Given the description of an element on the screen output the (x, y) to click on. 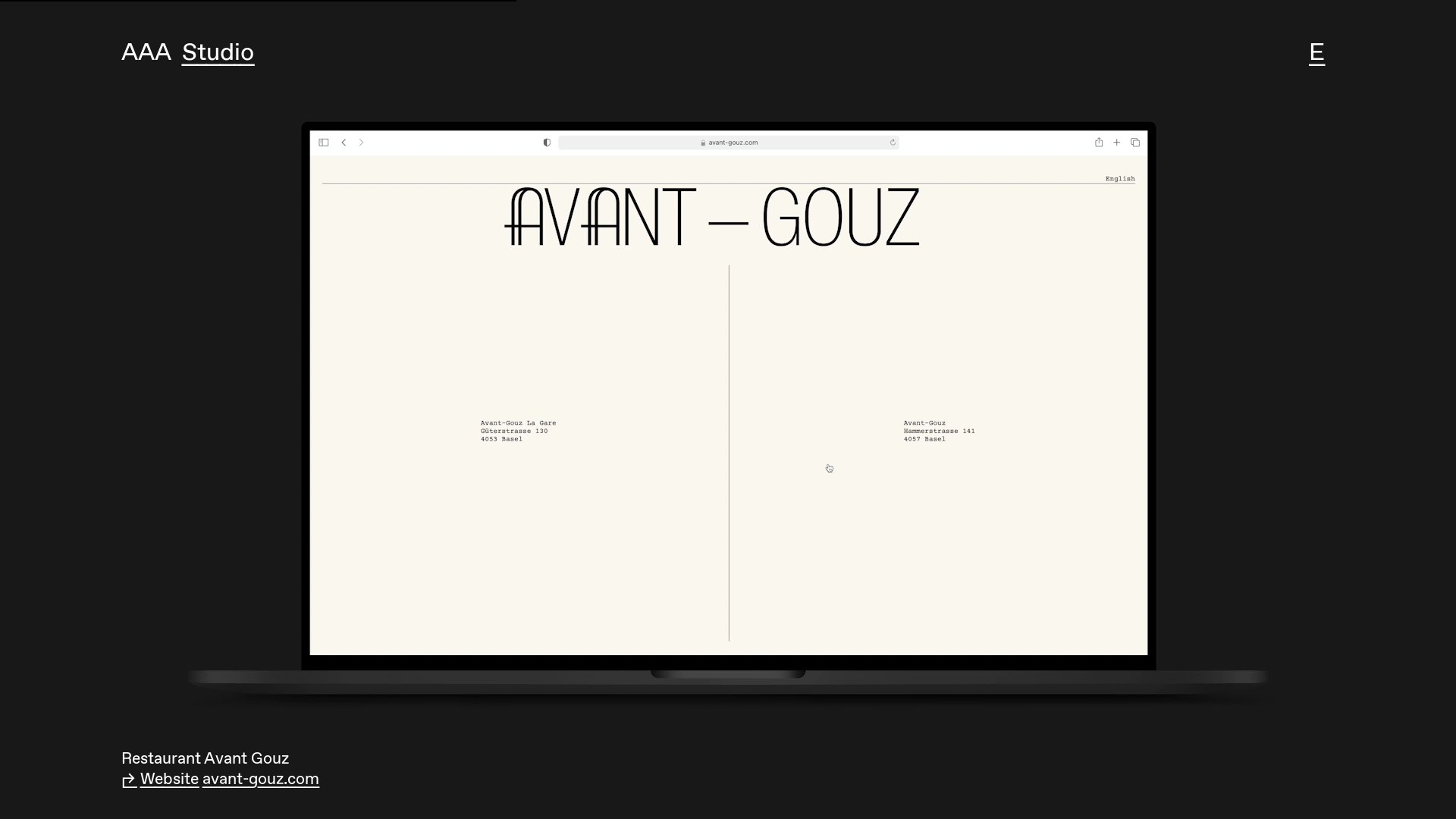
Studio Element type: text (222, 51)
Gesamtprojekt auf iart.ch Element type: text (223, 757)
E Element type: text (1321, 51)
